Given the description of an element on the screen output the (x, y) to click on. 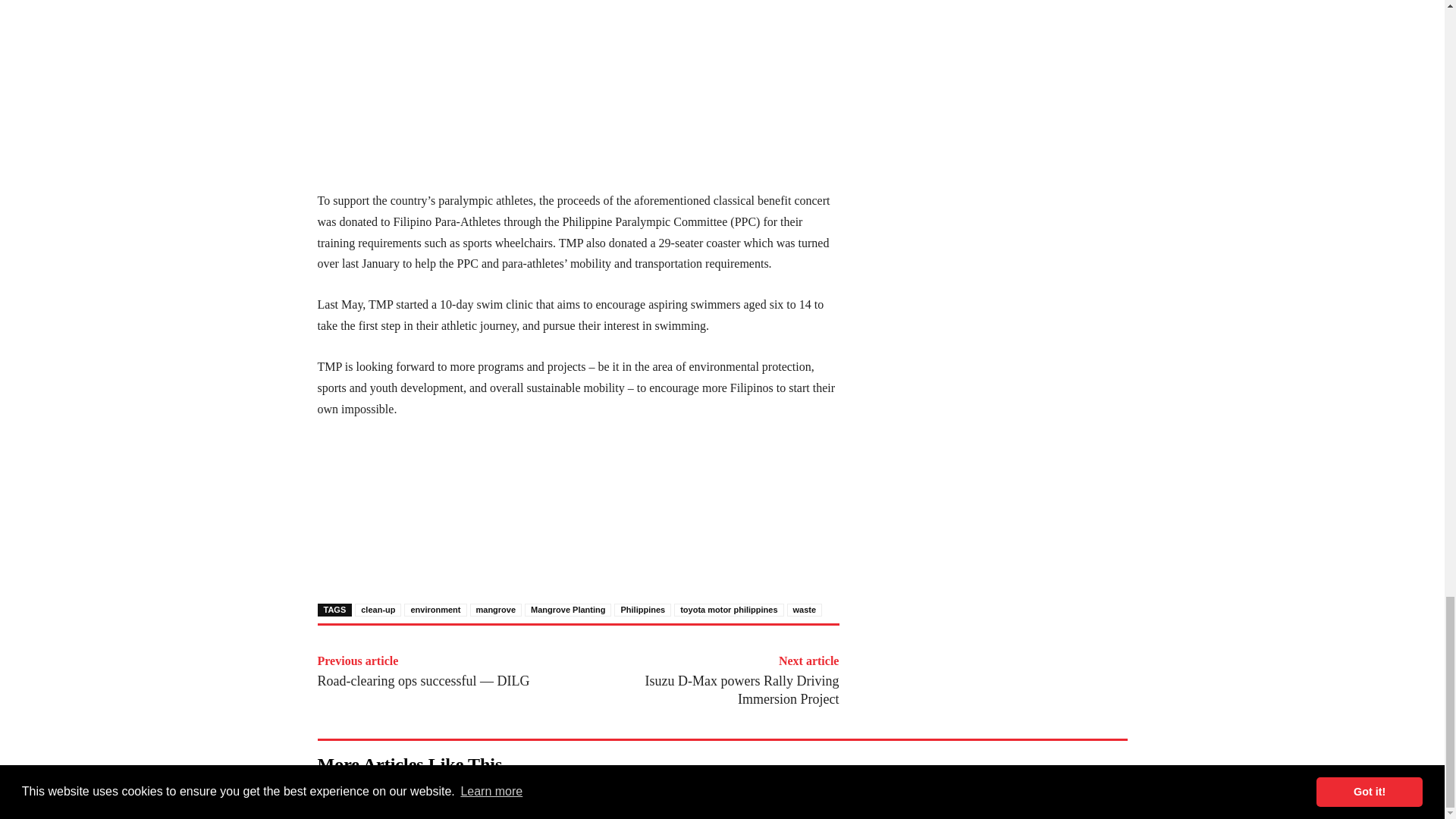
toyota motor philippines (728, 609)
waste (804, 609)
clean-up (378, 609)
environment (434, 609)
mangrove (496, 609)
Philippines (642, 609)
Mangrove Planting (567, 609)
